Given the description of an element on the screen output the (x, y) to click on. 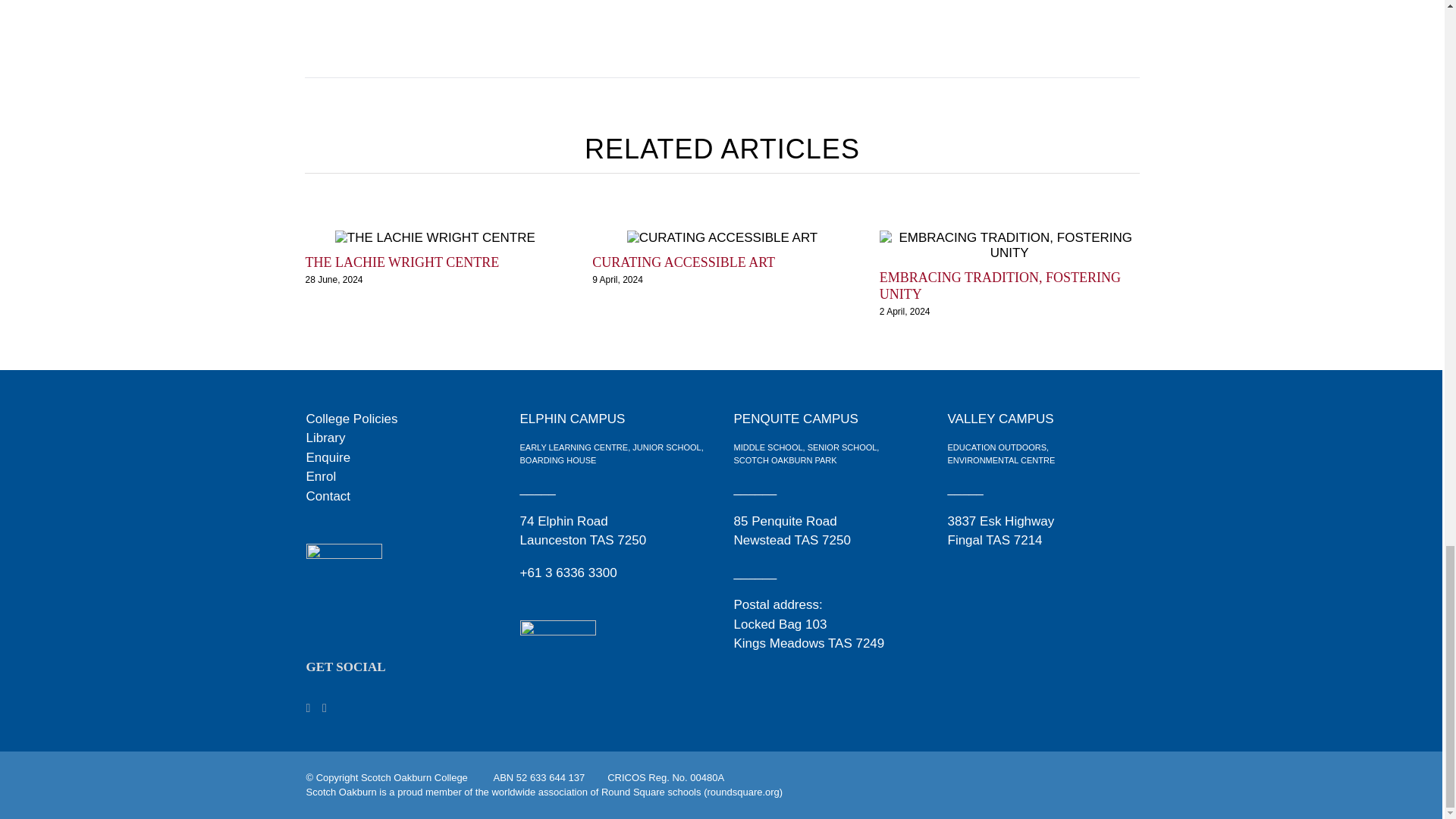
THE LACHIE WRIGHT CENTRE (401, 262)
CURATING ACCESSIBLE ART (683, 262)
EMBRACING TRADITION, FOSTERING UNITY (1000, 286)
